Given the description of an element on the screen output the (x, y) to click on. 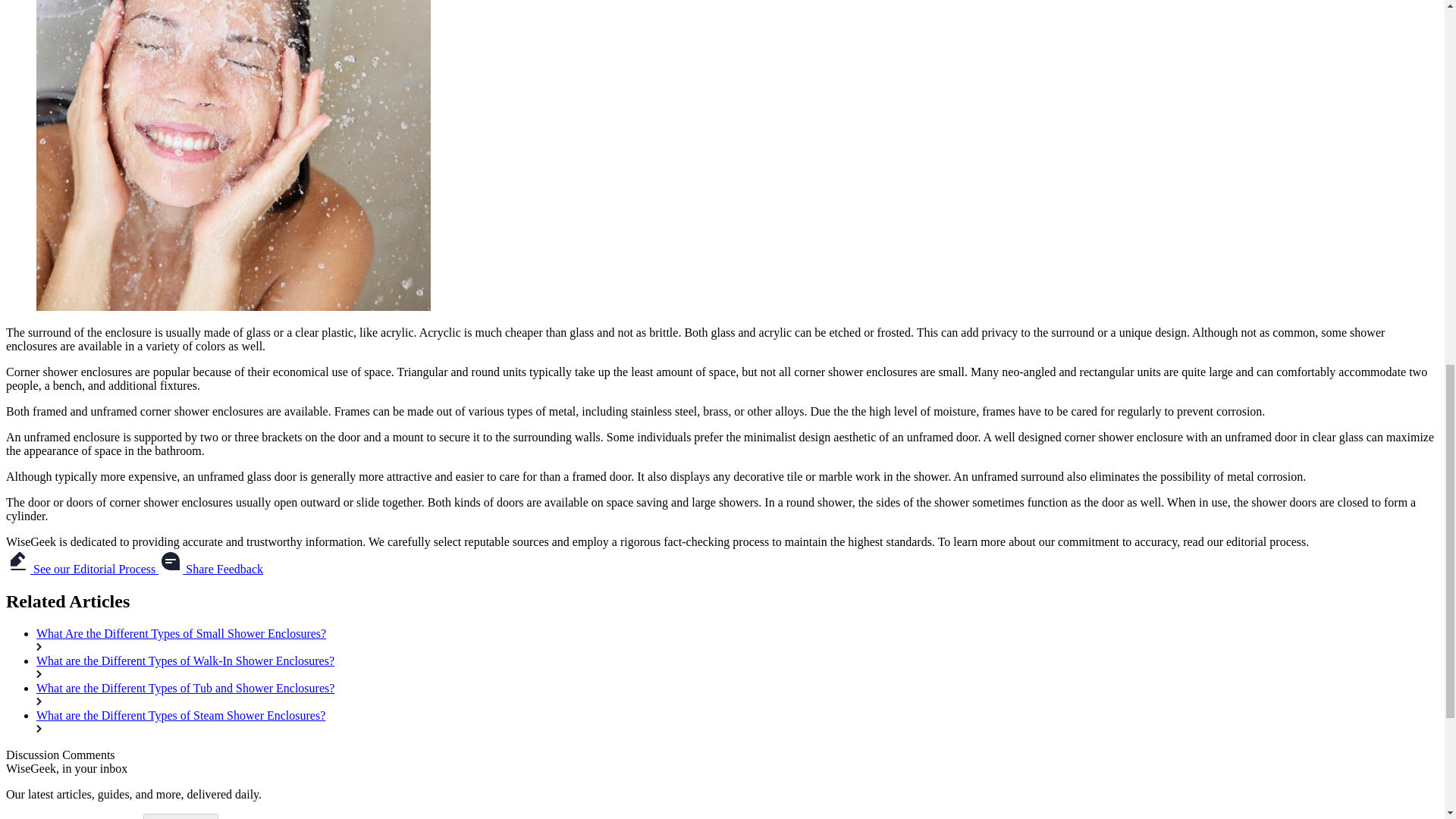
Subscribe (180, 816)
Share Feedback (210, 568)
See our Editorial Process (81, 568)
